Given the description of an element on the screen output the (x, y) to click on. 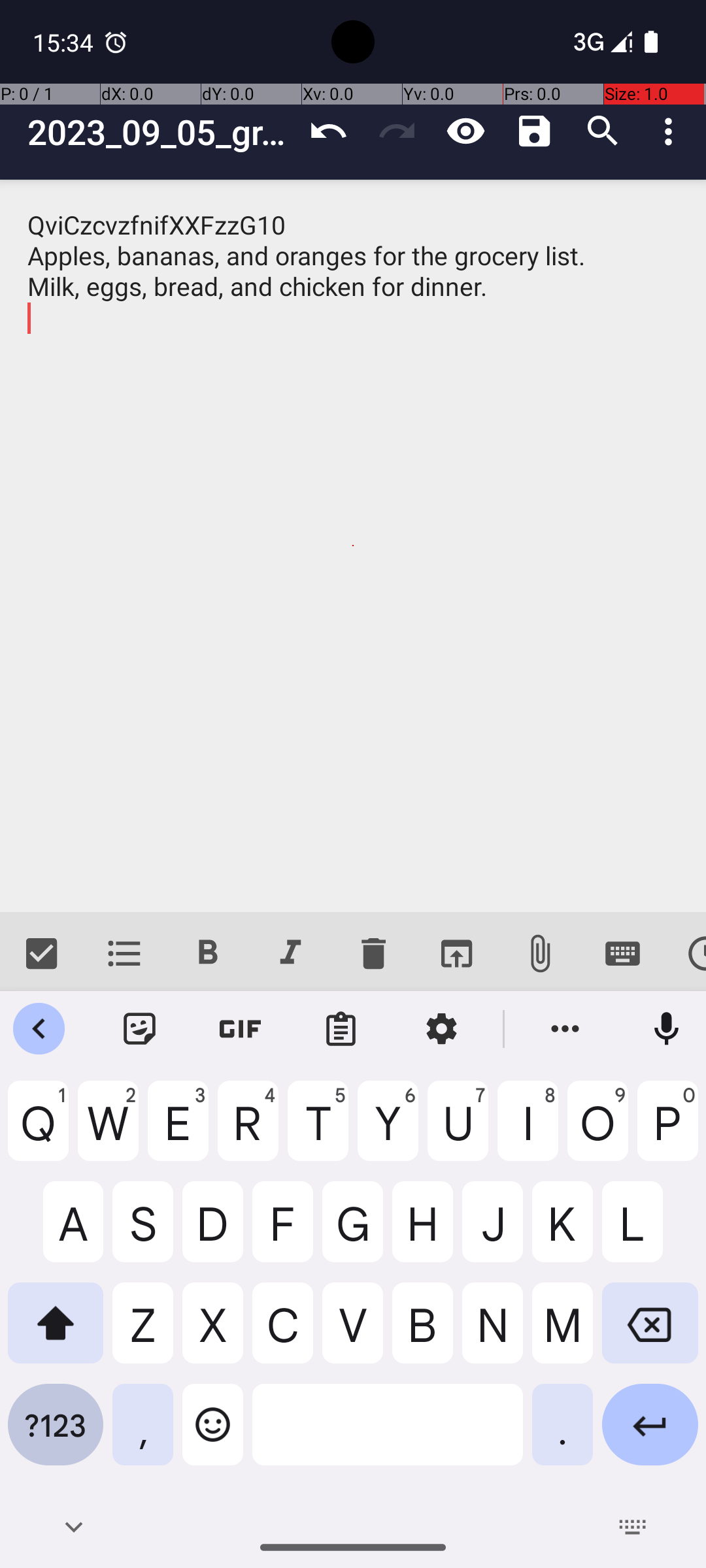
2023_09_05_grocery_list_weekly Element type: android.widget.TextView (160, 131)
QviCzcvzfnifXXFzzG10
Apples, bananas, and oranges for the grocery list.
Milk, eggs, bread, and chicken for dinner.
 Element type: android.widget.EditText (353, 545)
